Given the description of an element on the screen output the (x, y) to click on. 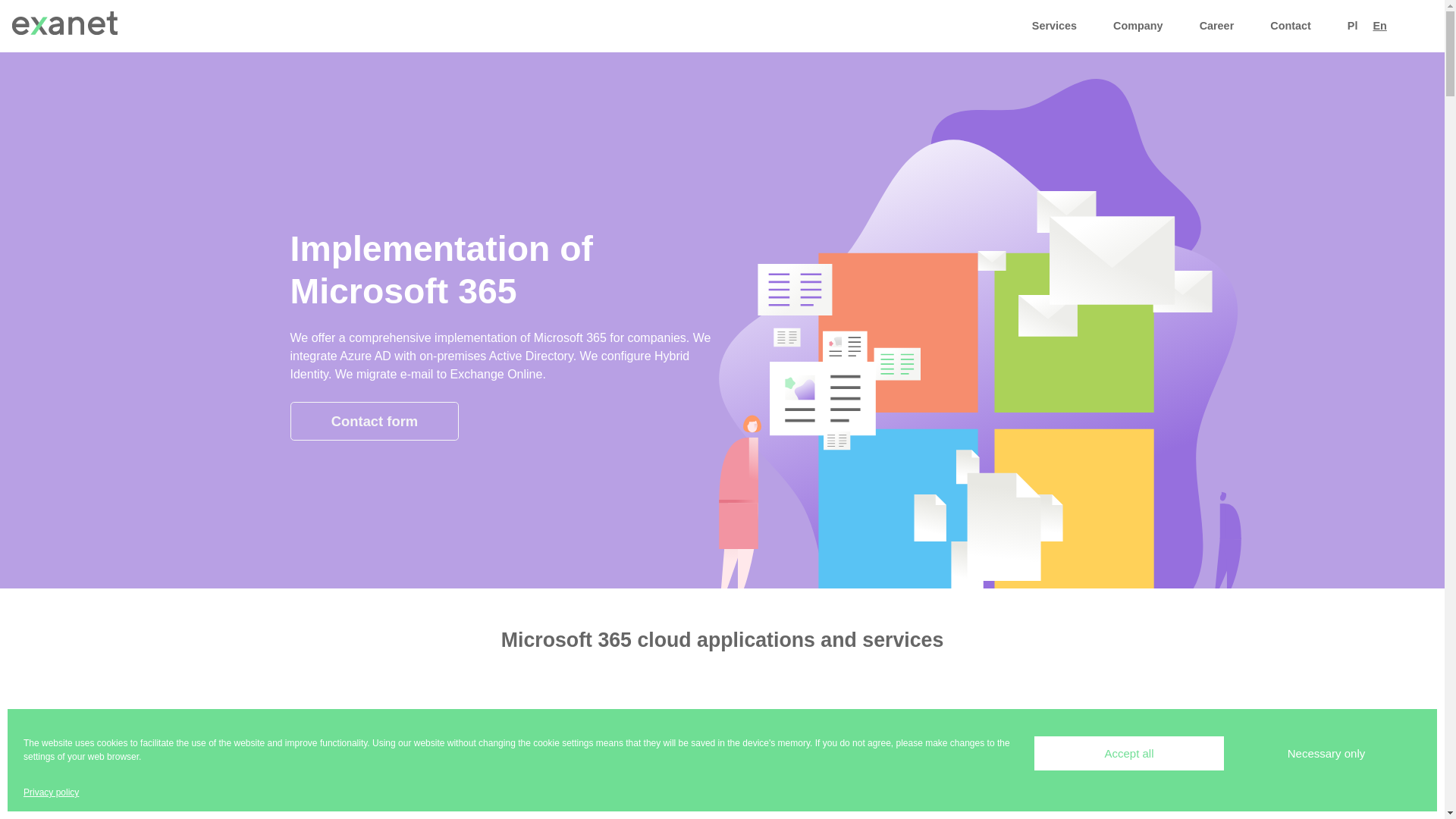
Services (1053, 26)
Necessary only (1326, 753)
Accept all (1128, 753)
Privacy policy (50, 792)
Exanet (65, 25)
